Given the description of an element on the screen output the (x, y) to click on. 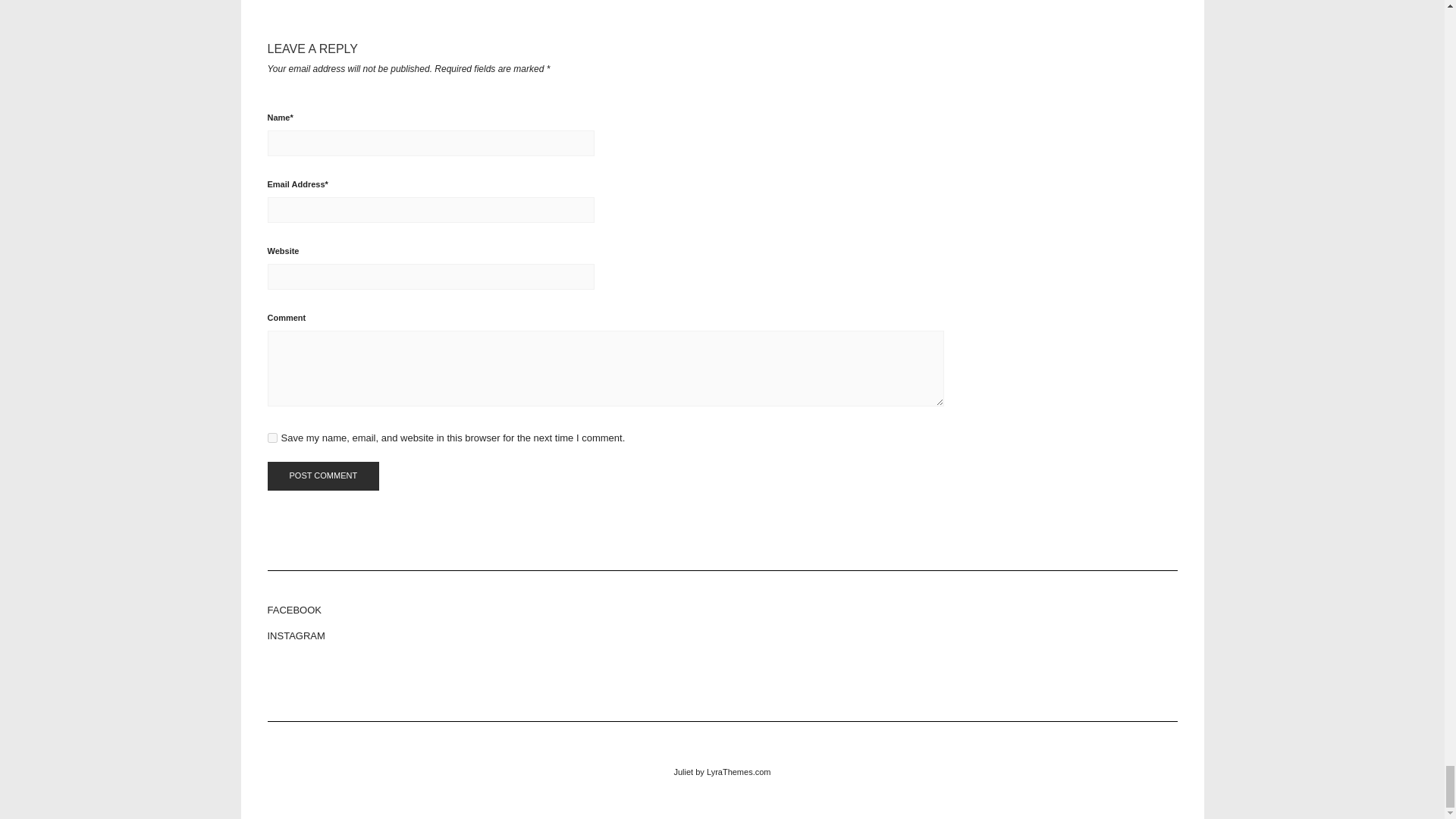
Juliet (682, 771)
Post Comment (322, 475)
Post Comment (322, 475)
FACEBOOK (721, 610)
yes (271, 438)
INSTAGRAM (721, 636)
